Given the description of an element on the screen output the (x, y) to click on. 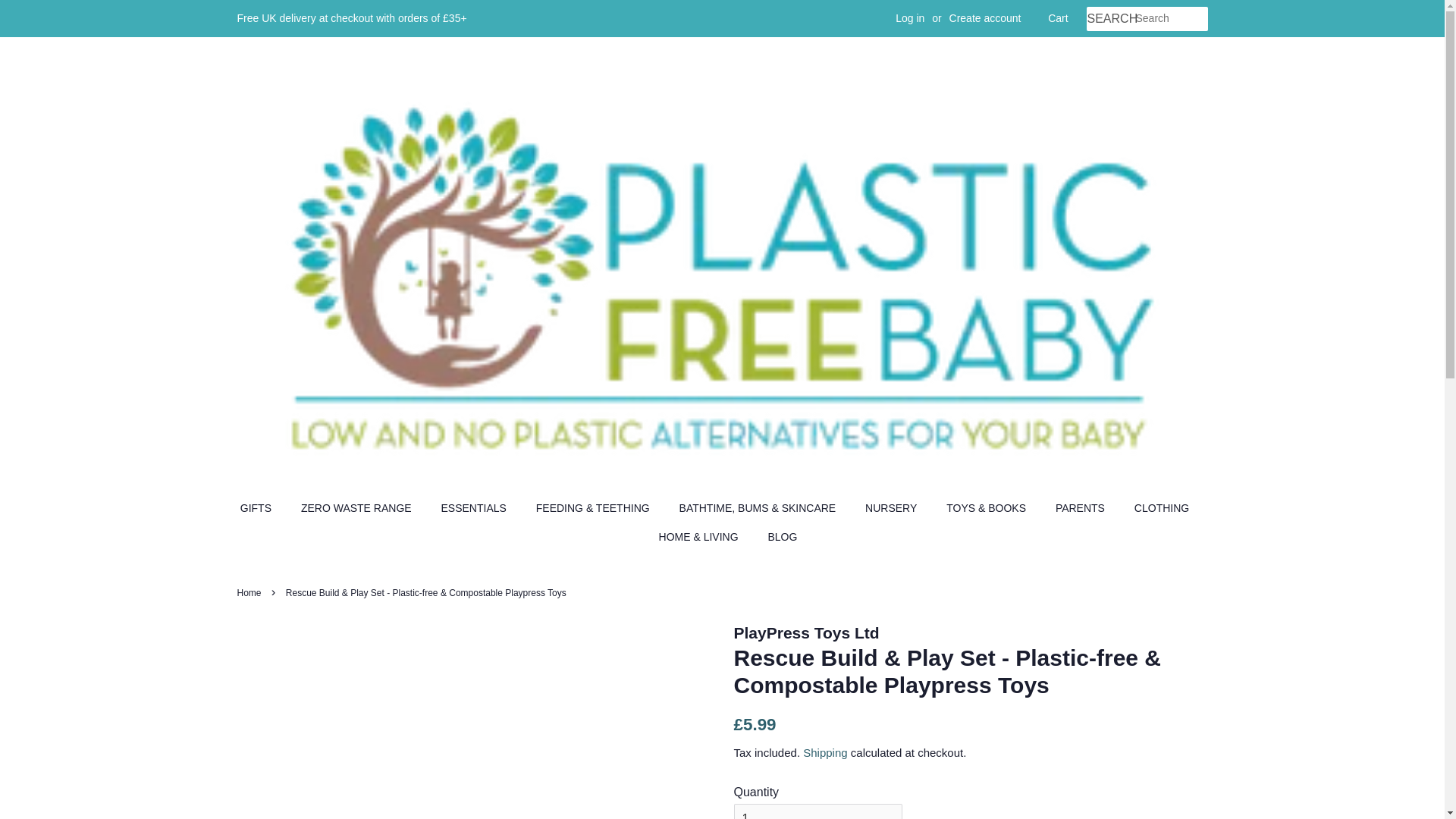
SEARCH (1110, 18)
Log in (909, 18)
Create account (985, 18)
Back to the frontpage (249, 593)
1 (817, 811)
Cart (1057, 18)
